Given the description of an element on the screen output the (x, y) to click on. 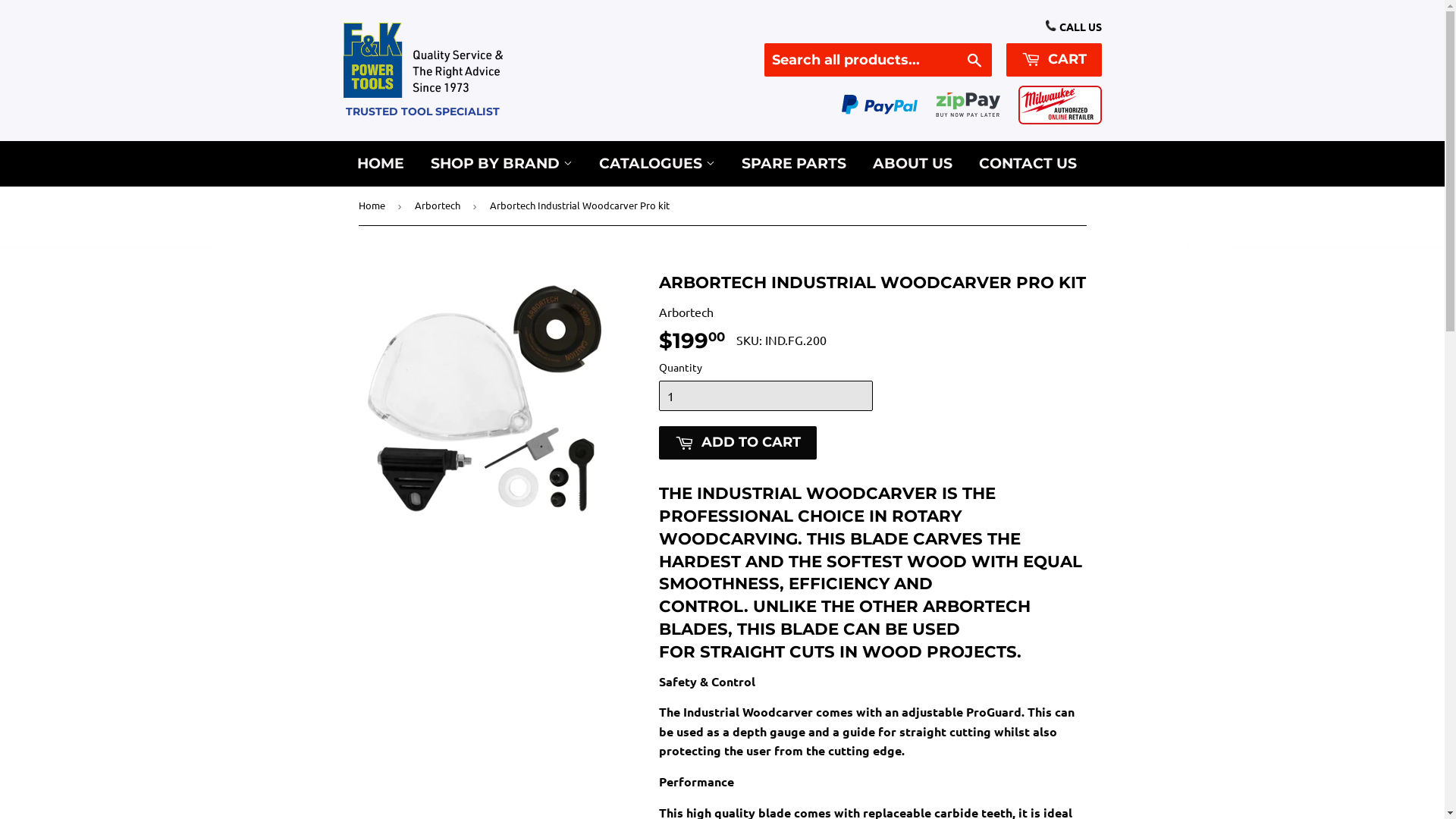
Search Element type: text (974, 60)
CALL US Element type: text (1072, 26)
CATALOGUES Element type: text (655, 163)
CART Element type: text (1053, 59)
CONTACT US Element type: text (1027, 163)
SHOP BY BRAND Element type: text (500, 163)
ABOUT US Element type: text (912, 163)
Arbortech Element type: text (439, 205)
Home Element type: text (373, 205)
SPARE PARTS Element type: text (792, 163)
ADD TO CART Element type: text (736, 442)
HOME Element type: text (380, 163)
